Given the description of an element on the screen output the (x, y) to click on. 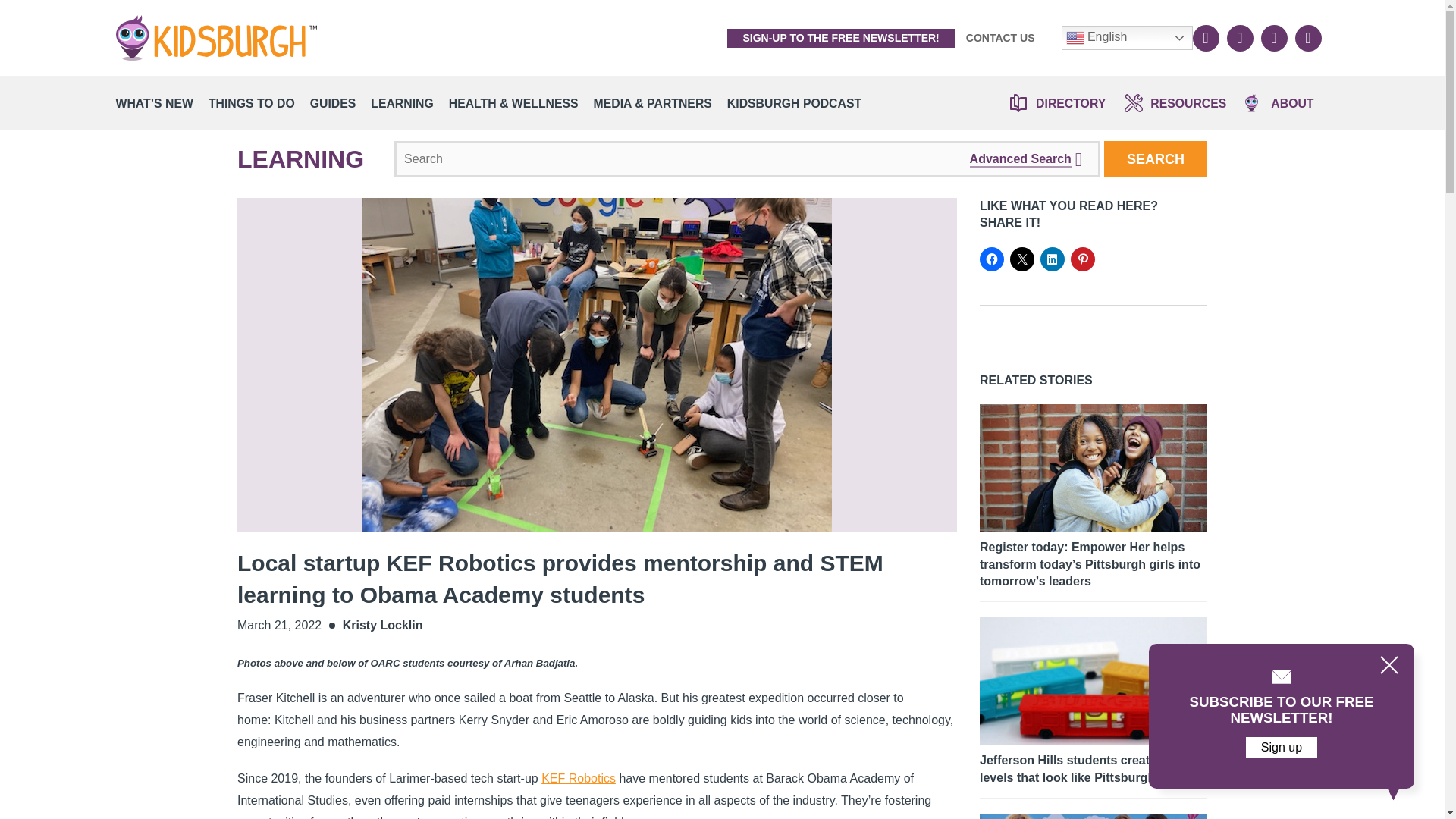
CONTACT US (1000, 37)
English (1126, 37)
SIGN-UP TO THE FREE NEWSLETTER! (839, 37)
